Given the description of an element on the screen output the (x, y) to click on. 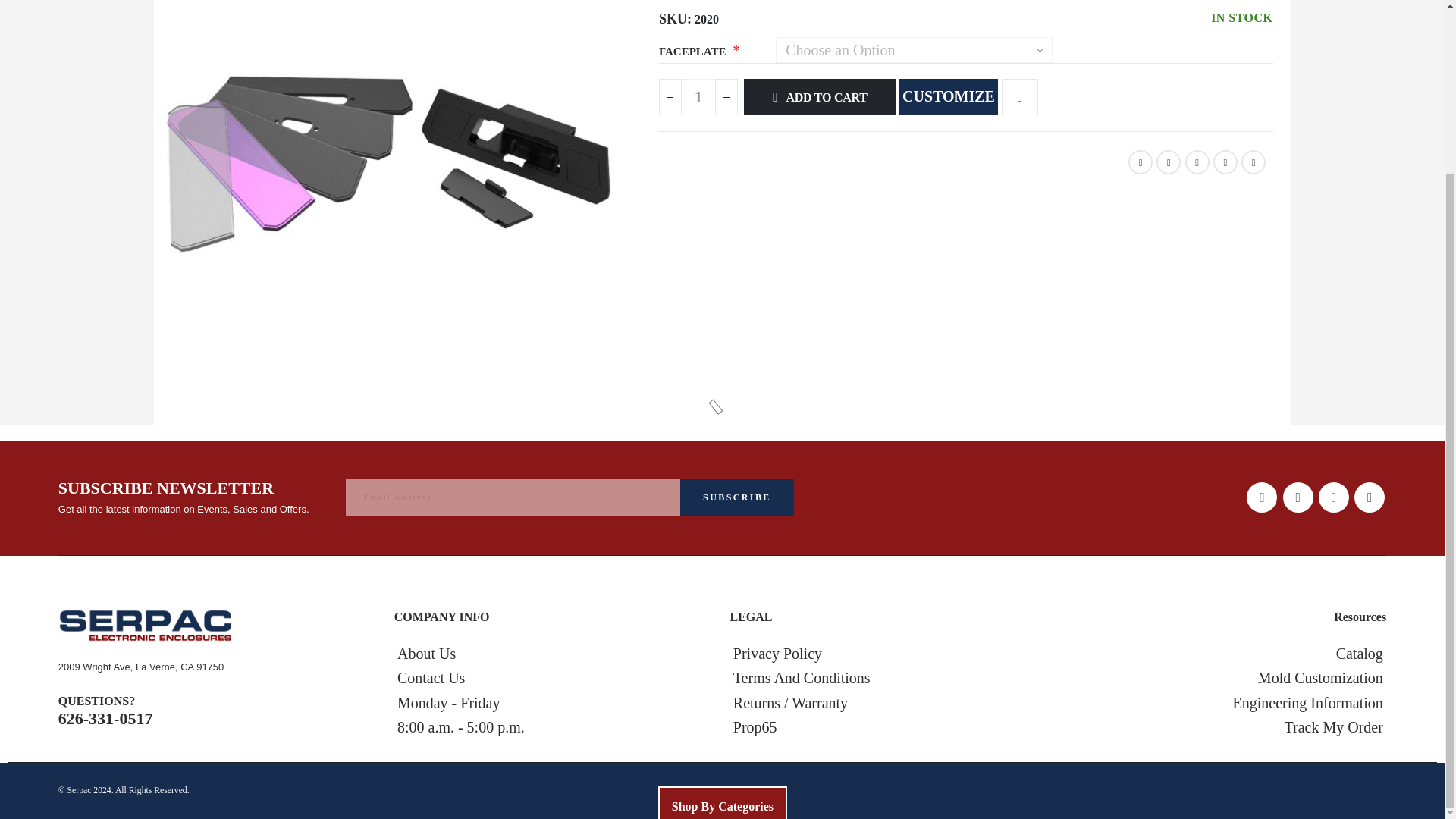
1 (697, 96)
